Given the description of an element on the screen output the (x, y) to click on. 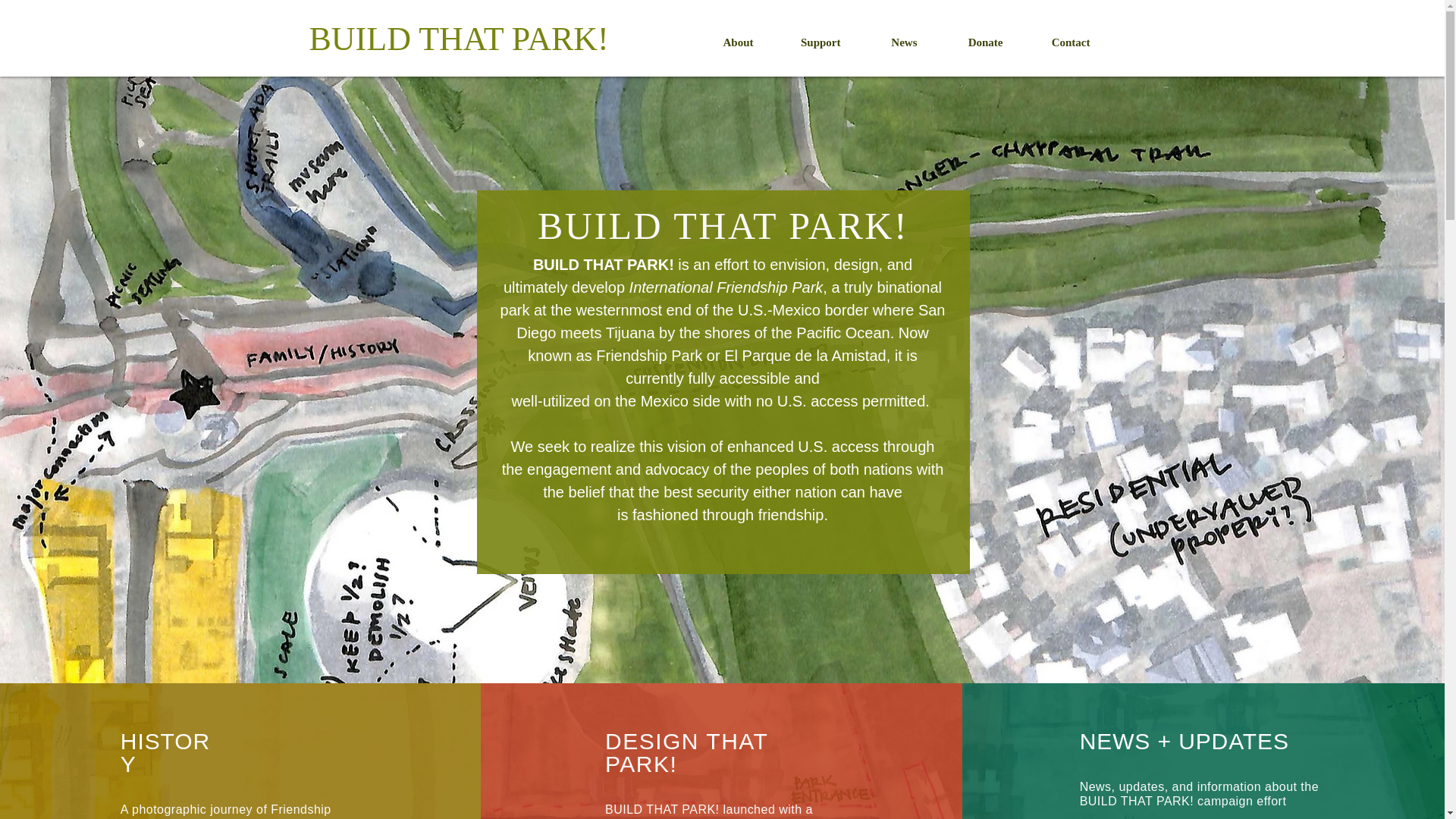
HISTORY (164, 752)
Contact (1053, 42)
BUILD THAT PARK! (458, 38)
Support (804, 42)
News (885, 42)
DESIGN THAT PARK! (686, 752)
Donate (967, 42)
About (721, 42)
